Given the description of an element on the screen output the (x, y) to click on. 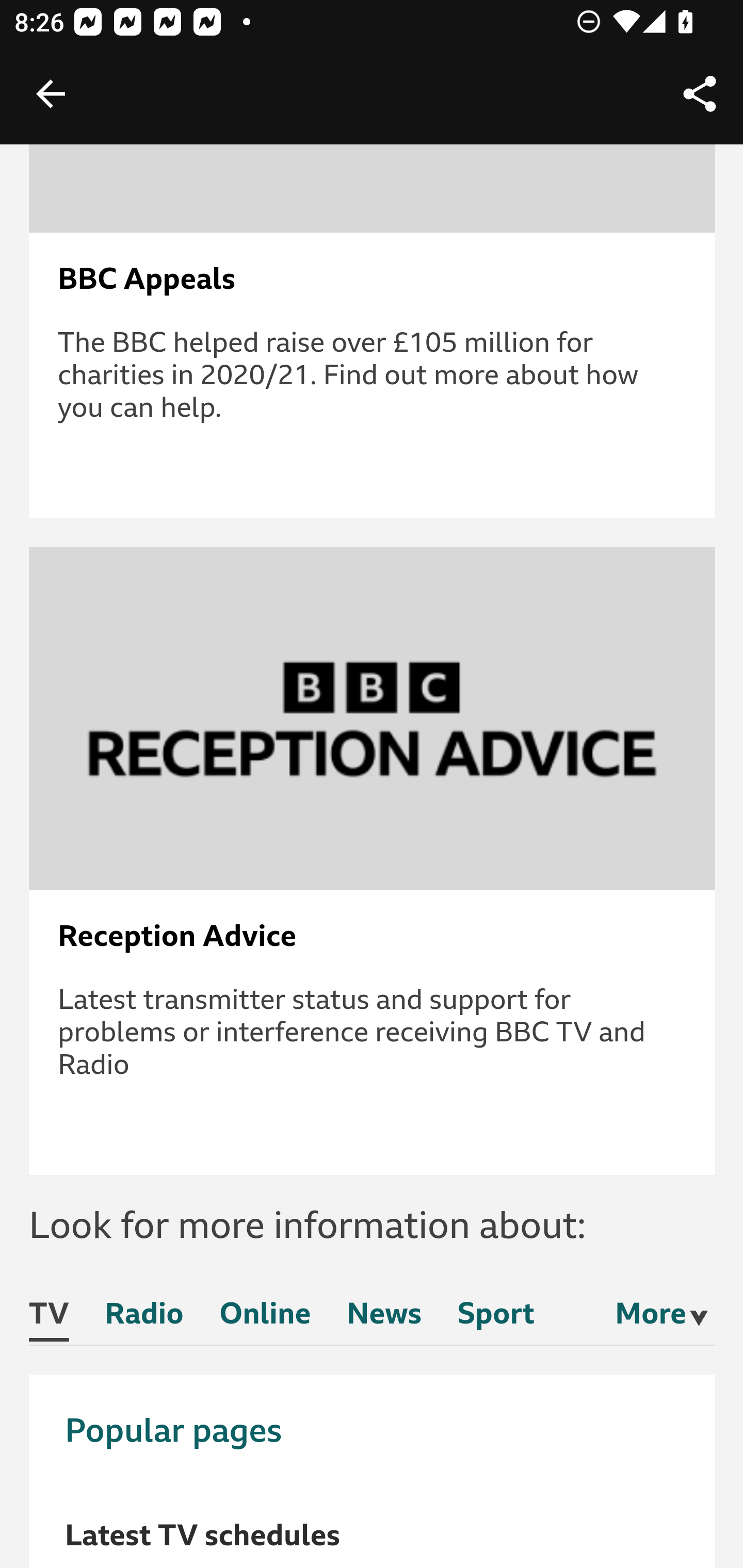
Back (50, 93)
Share (699, 93)
BBC Appeals (372, 279)
Reception Advice (372, 936)
TV (48, 1319)
Radio (144, 1317)
Online (265, 1317)
News (383, 1317)
Sport (495, 1317)
More (650, 1315)
Latest TV schedules (203, 1535)
